Given the description of an element on the screen output the (x, y) to click on. 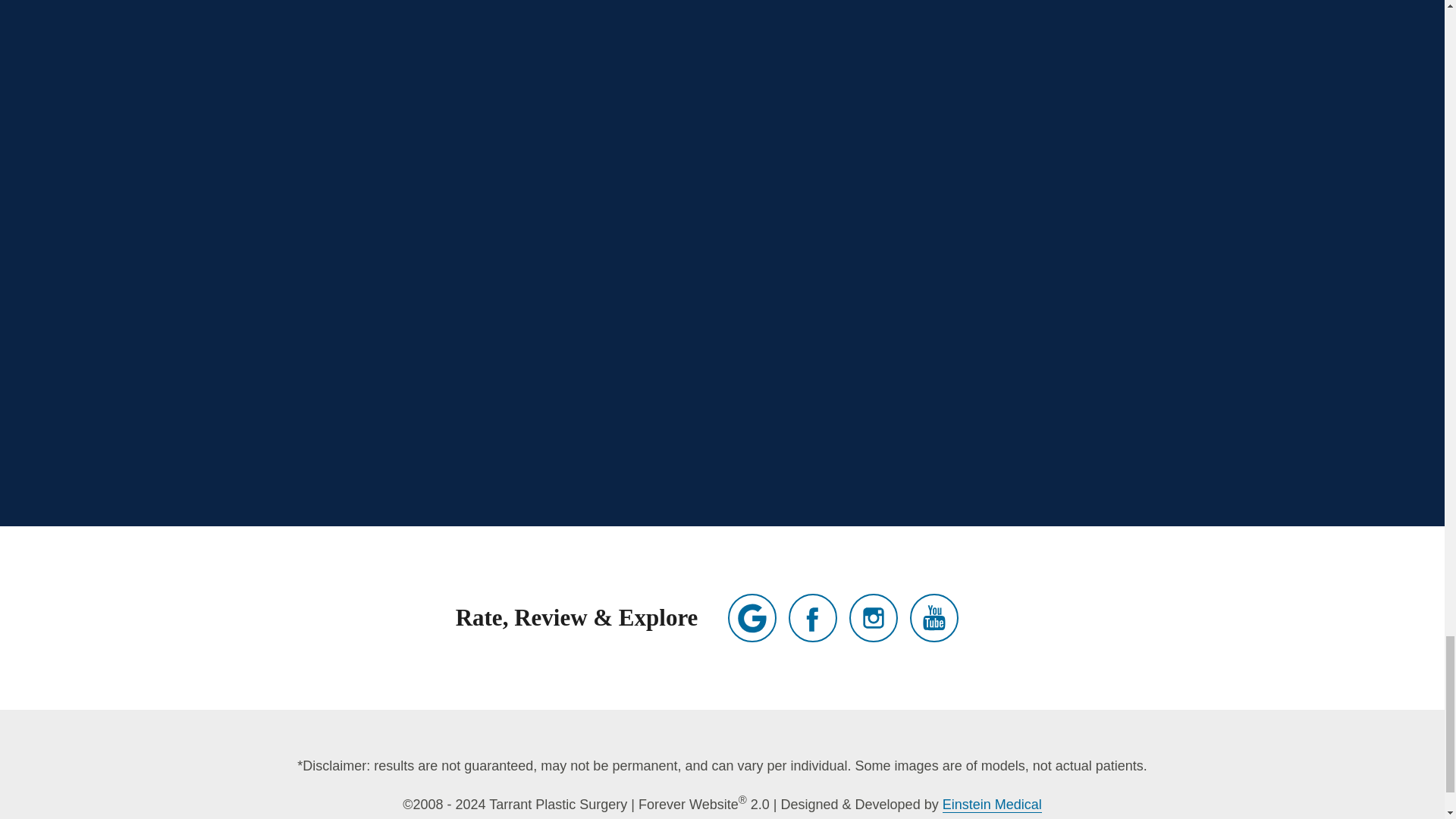
Facebook (813, 617)
Instagram (873, 617)
Google (752, 617)
YouTube (934, 617)
